Given the description of an element on the screen output the (x, y) to click on. 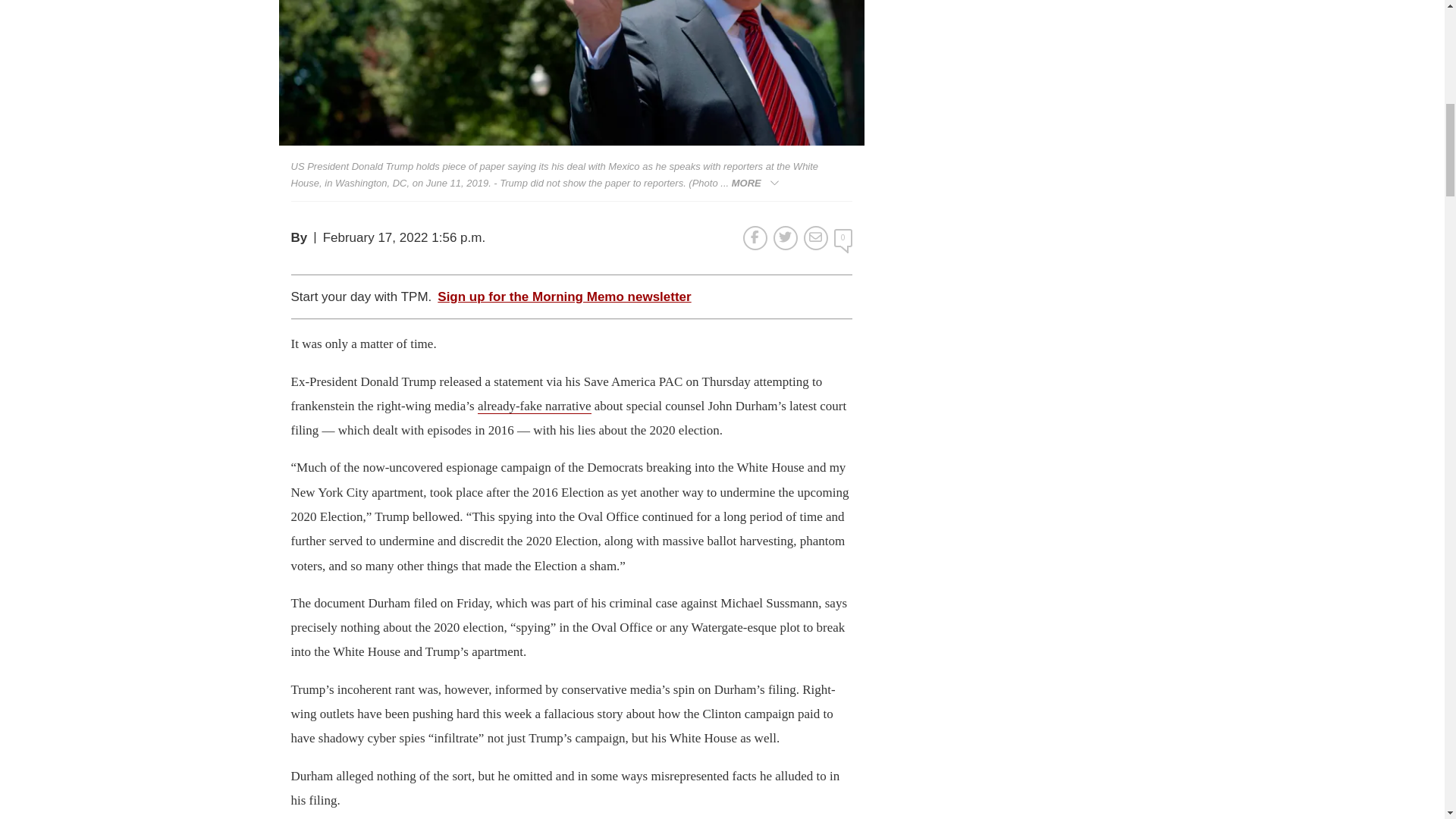
Become a member (686, 245)
Read our mission (456, 245)
Sign up for the Morning Memo newsletter (564, 297)
0 (842, 238)
